Given the description of an element on the screen output the (x, y) to click on. 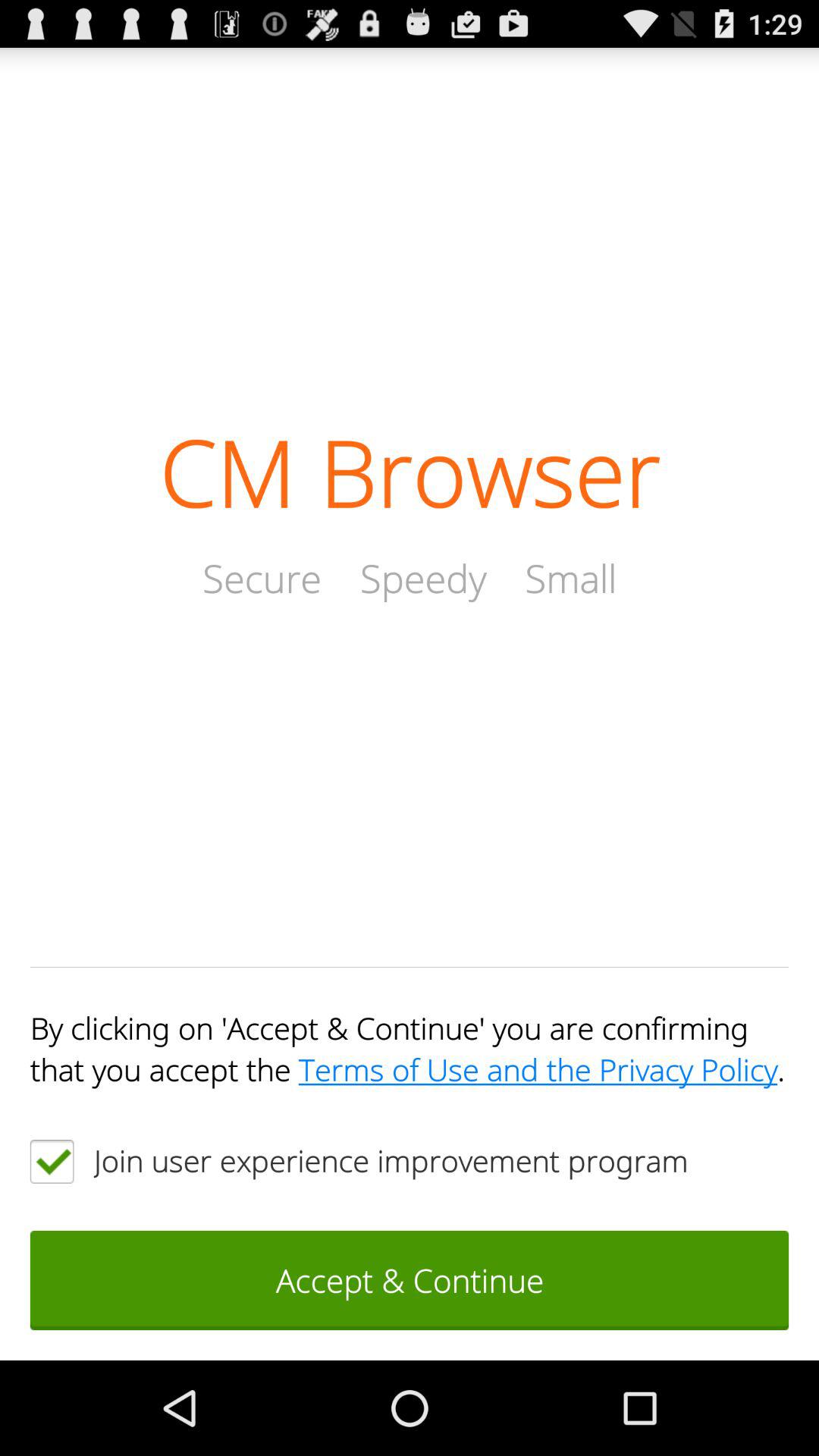
select the item to the left of the join user experience icon (51, 1161)
